Given the description of an element on the screen output the (x, y) to click on. 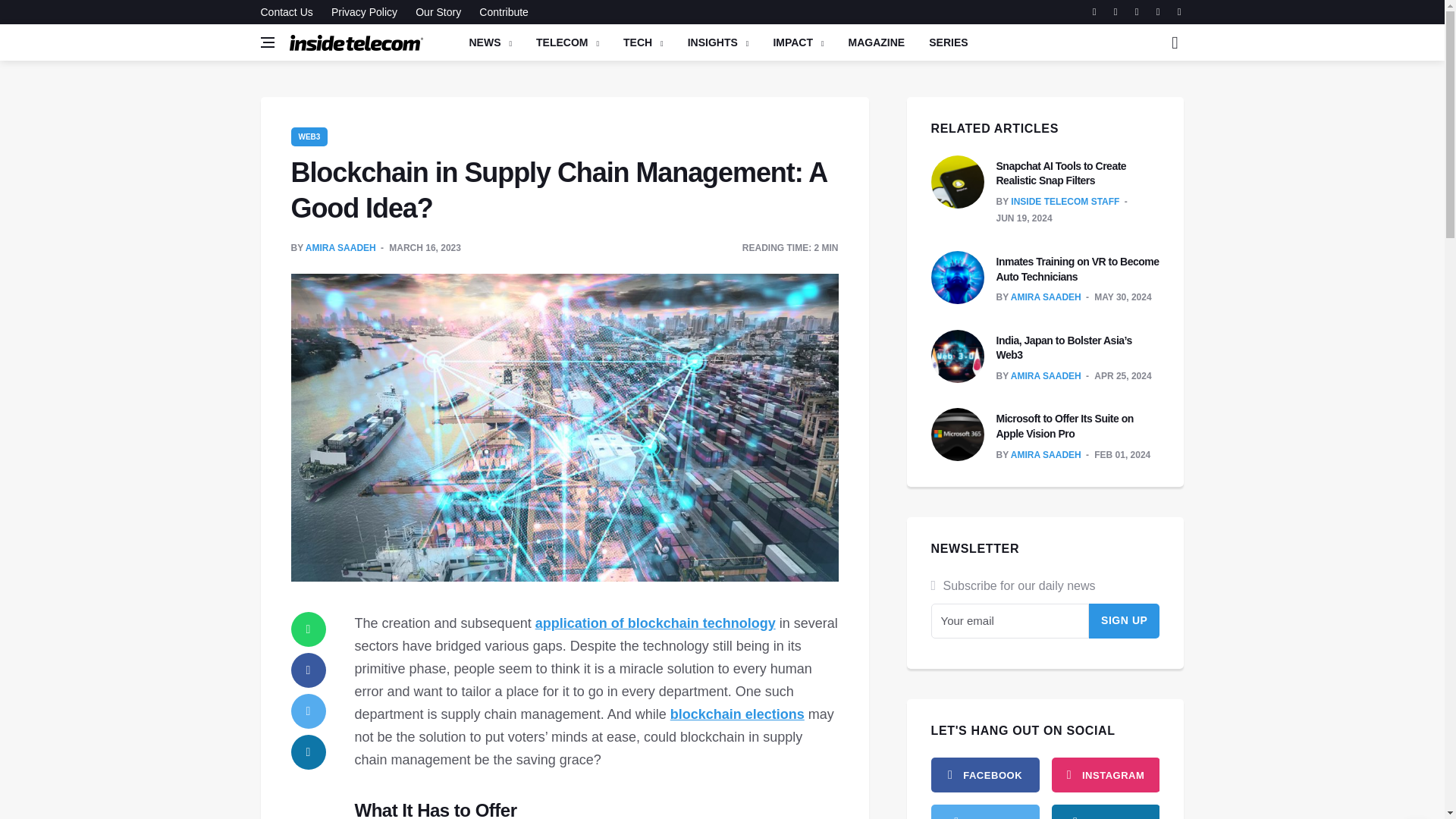
Contact Us (290, 12)
Contribute (499, 12)
linkedin (308, 751)
facebook (308, 669)
rss (1104, 811)
Sign Up (1124, 620)
Privacy Policy (363, 12)
facebook (985, 774)
instagram (1104, 774)
twitter (985, 811)
